Given the description of an element on the screen output the (x, y) to click on. 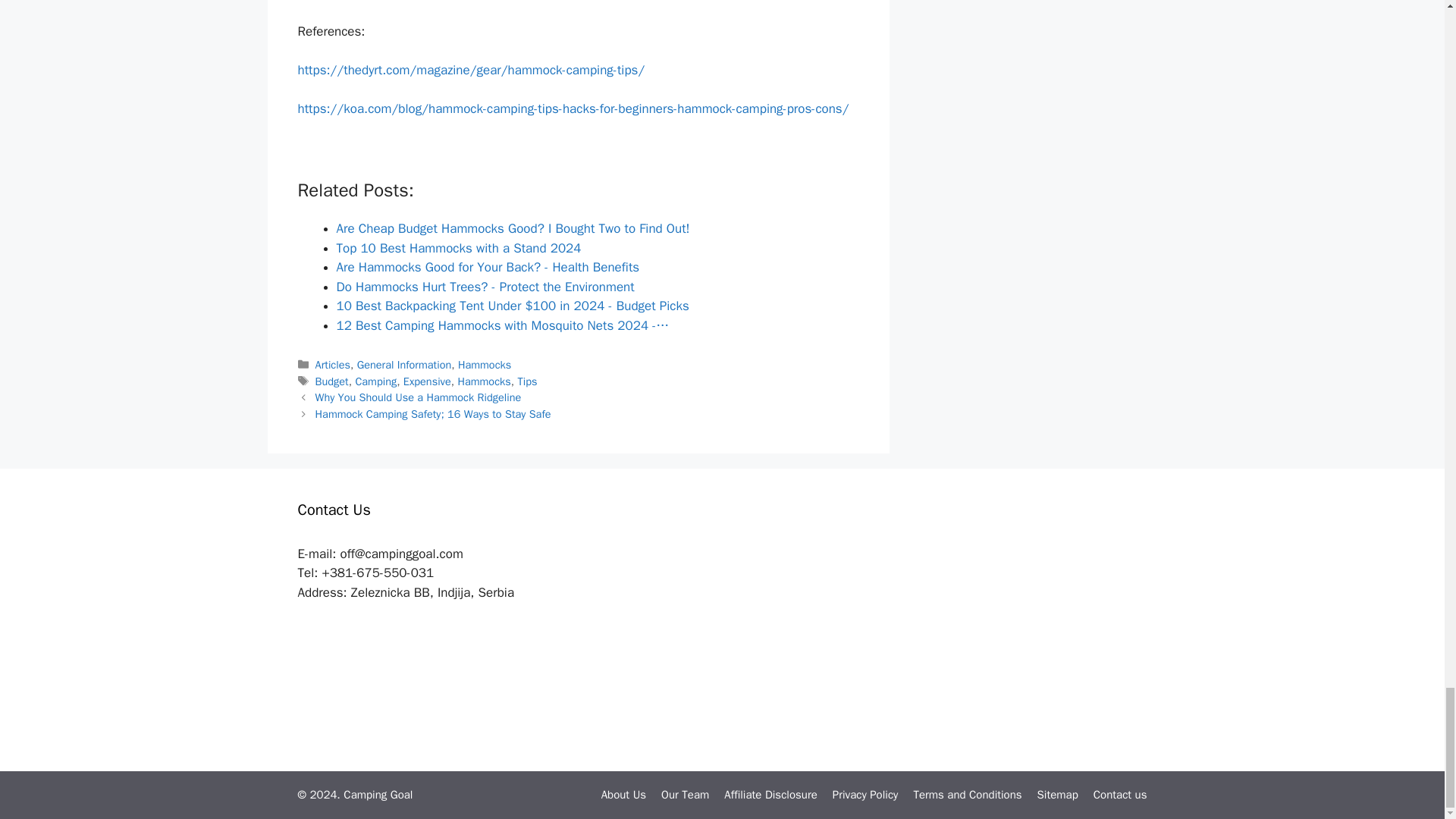
Camping (375, 381)
Are Cheap Budget Hammocks Good? I Bought Two to Find Out! (513, 228)
Why You Should Use a Hammock Ridgeline (418, 397)
Do Hammocks Hurt Trees? - Protect the Environment (485, 286)
Top 10 Best Hammocks with a Stand 2024 (458, 248)
Budget (332, 381)
Hammocks (484, 364)
Hammock Camping Safety; 16 Ways to Stay Safe (433, 413)
Hammocks (484, 381)
Are Hammocks Good for Your Back? - Health Benefits (488, 267)
Articles (332, 364)
Expensive (427, 381)
General Information (403, 364)
Tips (526, 381)
